Given the description of an element on the screen output the (x, y) to click on. 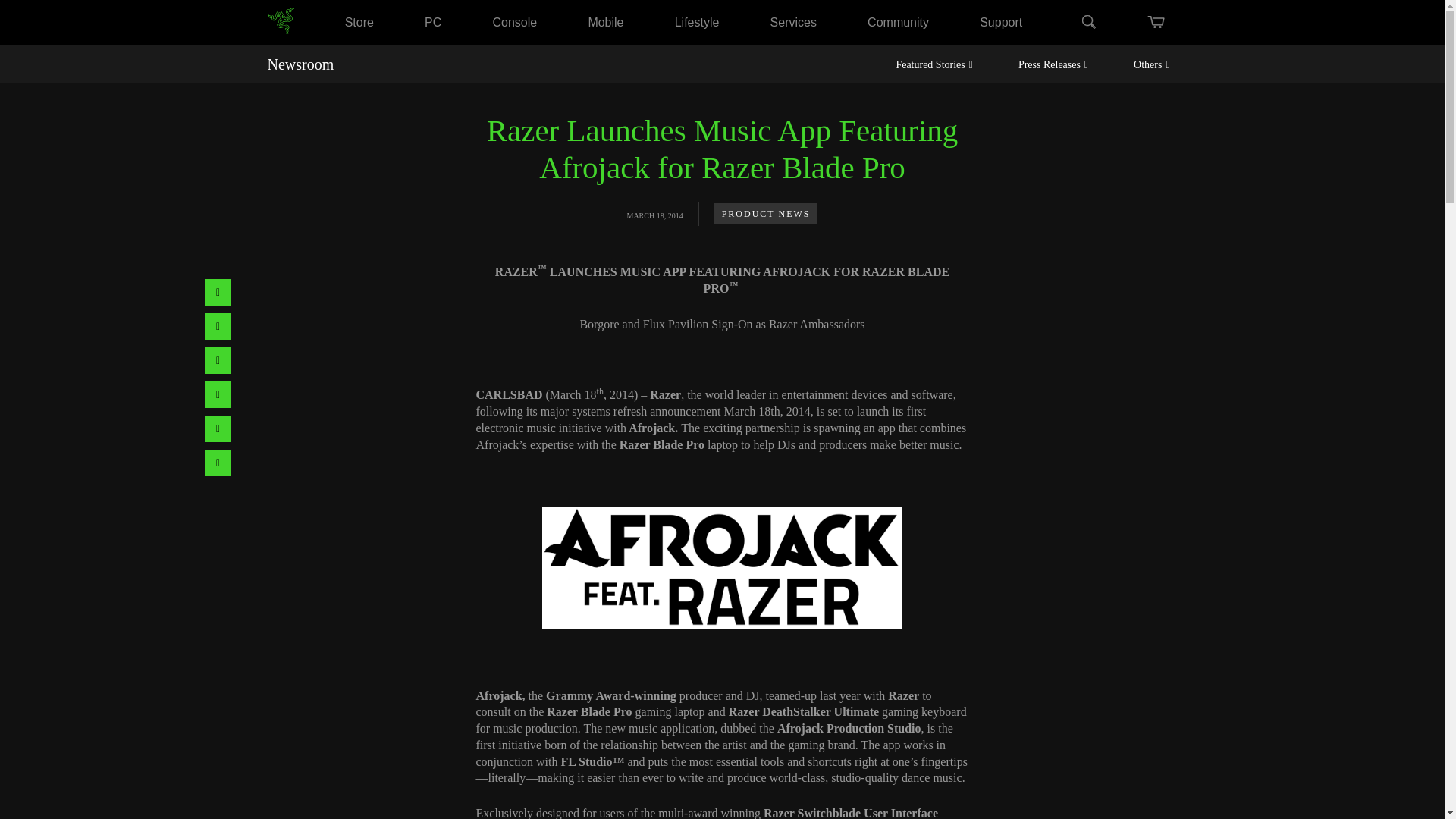
Share via pinterest (218, 325)
Community (897, 22)
Newsroom (299, 64)
Featured Stories (933, 64)
Search (1087, 22)
Support (1000, 22)
Mobile (605, 22)
PRODUCT NEWS (766, 213)
Lifestyle (697, 22)
Console (515, 22)
Share via facebook (218, 292)
Services (793, 22)
PC (433, 22)
Search (1087, 22)
mini cart (1155, 22)
